Given the description of an element on the screen output the (x, y) to click on. 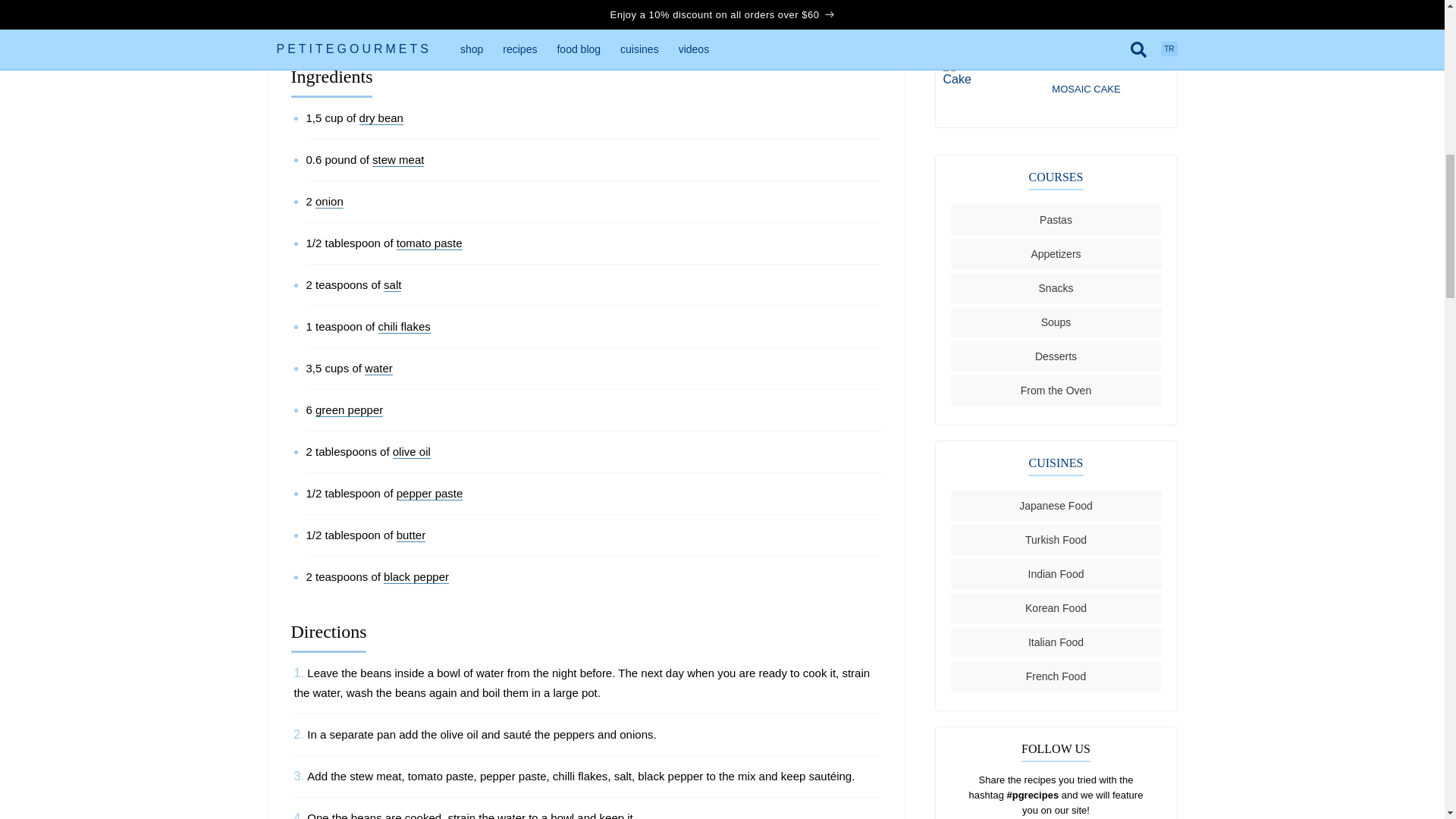
dry bean (381, 118)
chili flakes (404, 326)
onion (329, 201)
salt (392, 284)
tomato paste (429, 243)
butter (410, 535)
pepper paste (429, 493)
water (379, 368)
stew meat (397, 160)
black pepper (416, 576)
green pepper (348, 409)
olive oil (411, 451)
